Given the description of an element on the screen output the (x, y) to click on. 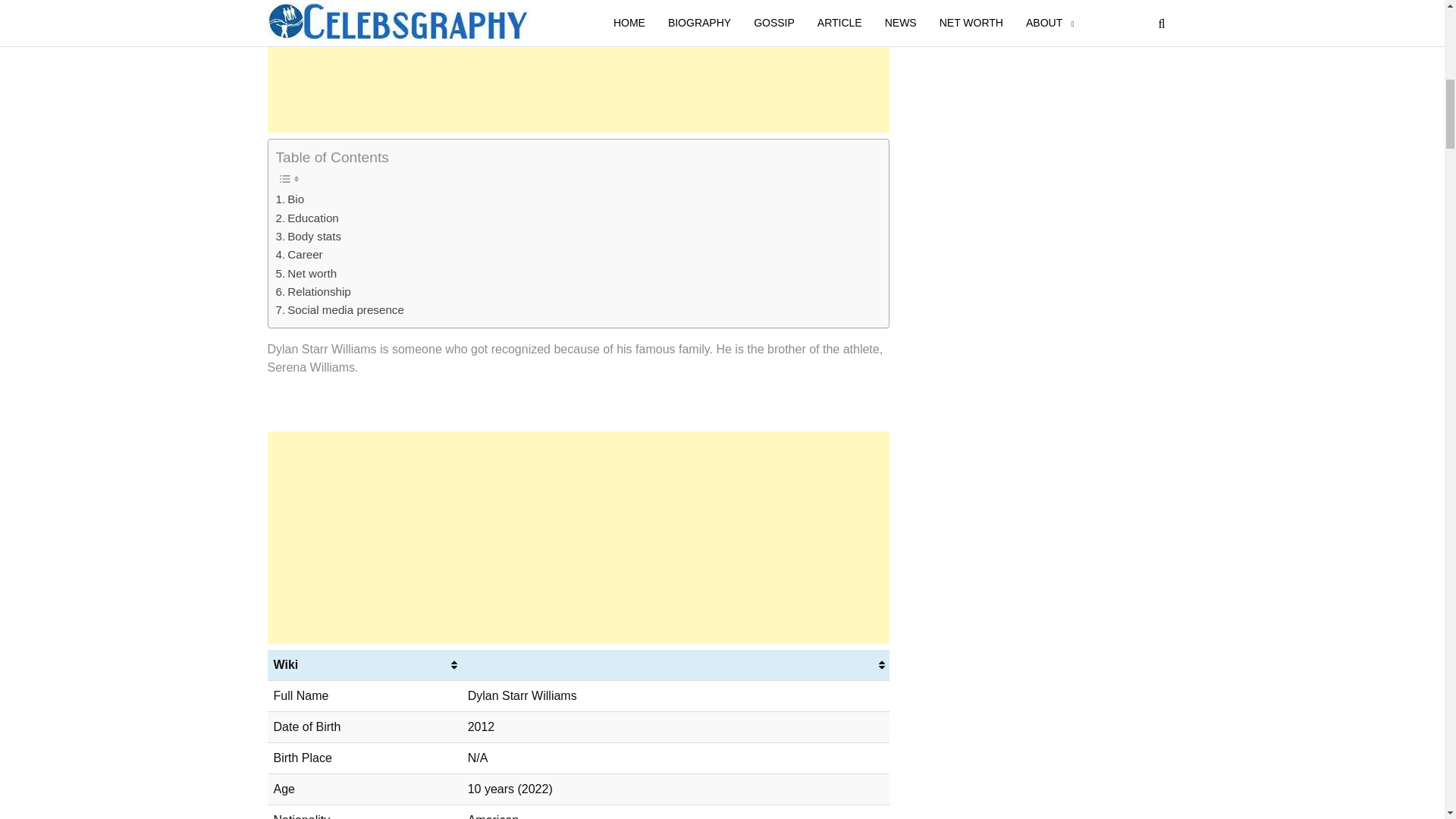
Body stats (309, 236)
Education (307, 218)
Relationship (313, 291)
Career (299, 254)
Bio (290, 199)
Net worth (306, 273)
Social media presence (340, 310)
Body stats (309, 236)
Bio (290, 199)
Education (307, 218)
Net worth (306, 273)
Social media presence (340, 310)
Career (299, 254)
Relationship (313, 291)
